Given the description of an element on the screen output the (x, y) to click on. 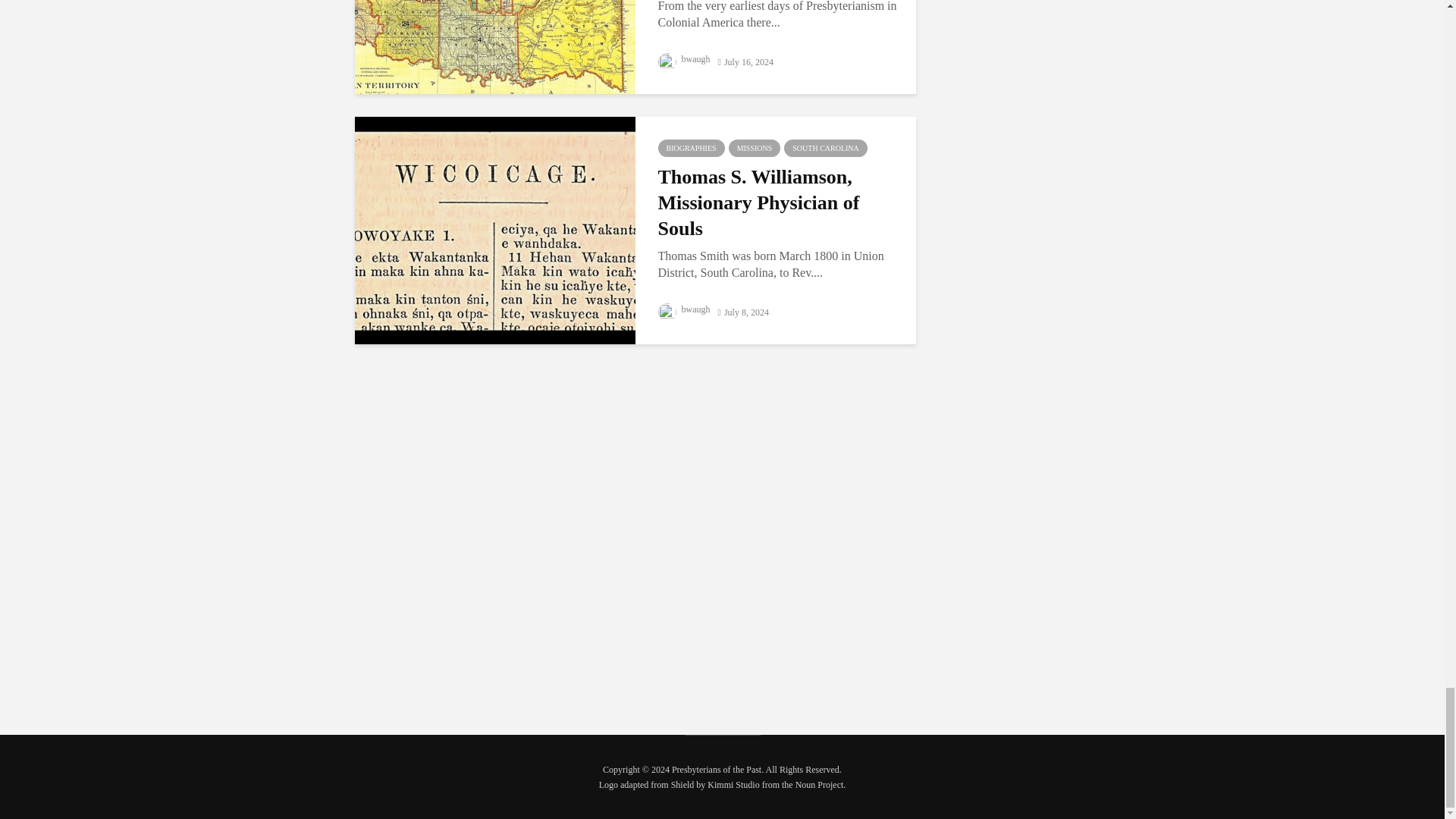
Thomas S. Williamson, Missionary Physician of Souls (494, 228)
